Given the description of an element on the screen output the (x, y) to click on. 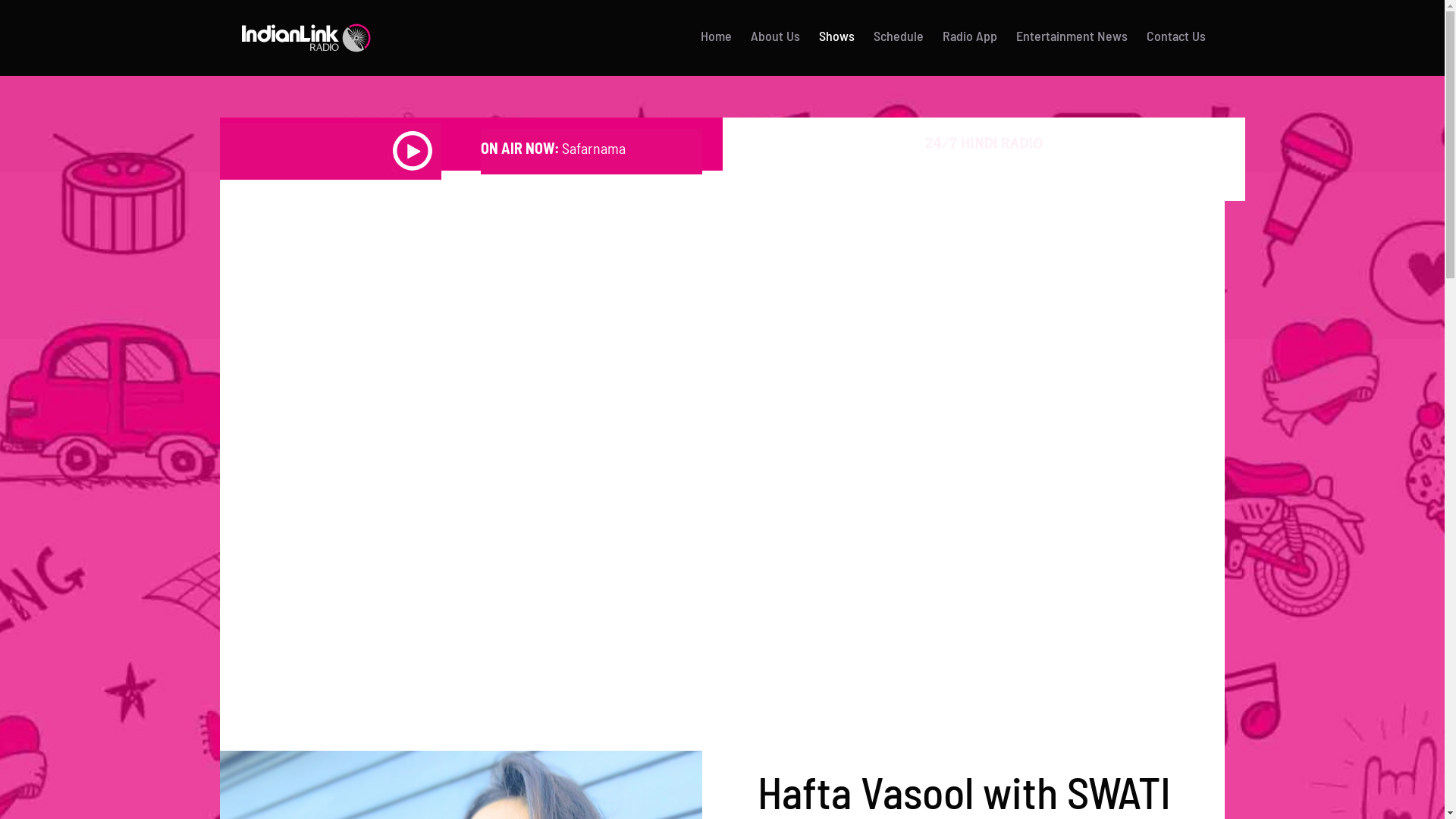
YouTube video player 1 Element type: hover (721, 452)
Schedule Element type: text (898, 35)
Home Element type: text (715, 35)
About Us Element type: text (775, 35)
Shows Element type: text (836, 35)
Entertainment News Element type: text (1071, 35)
Contact Us Element type: text (1175, 35)
Radio App Element type: text (969, 35)
